Given the description of an element on the screen output the (x, y) to click on. 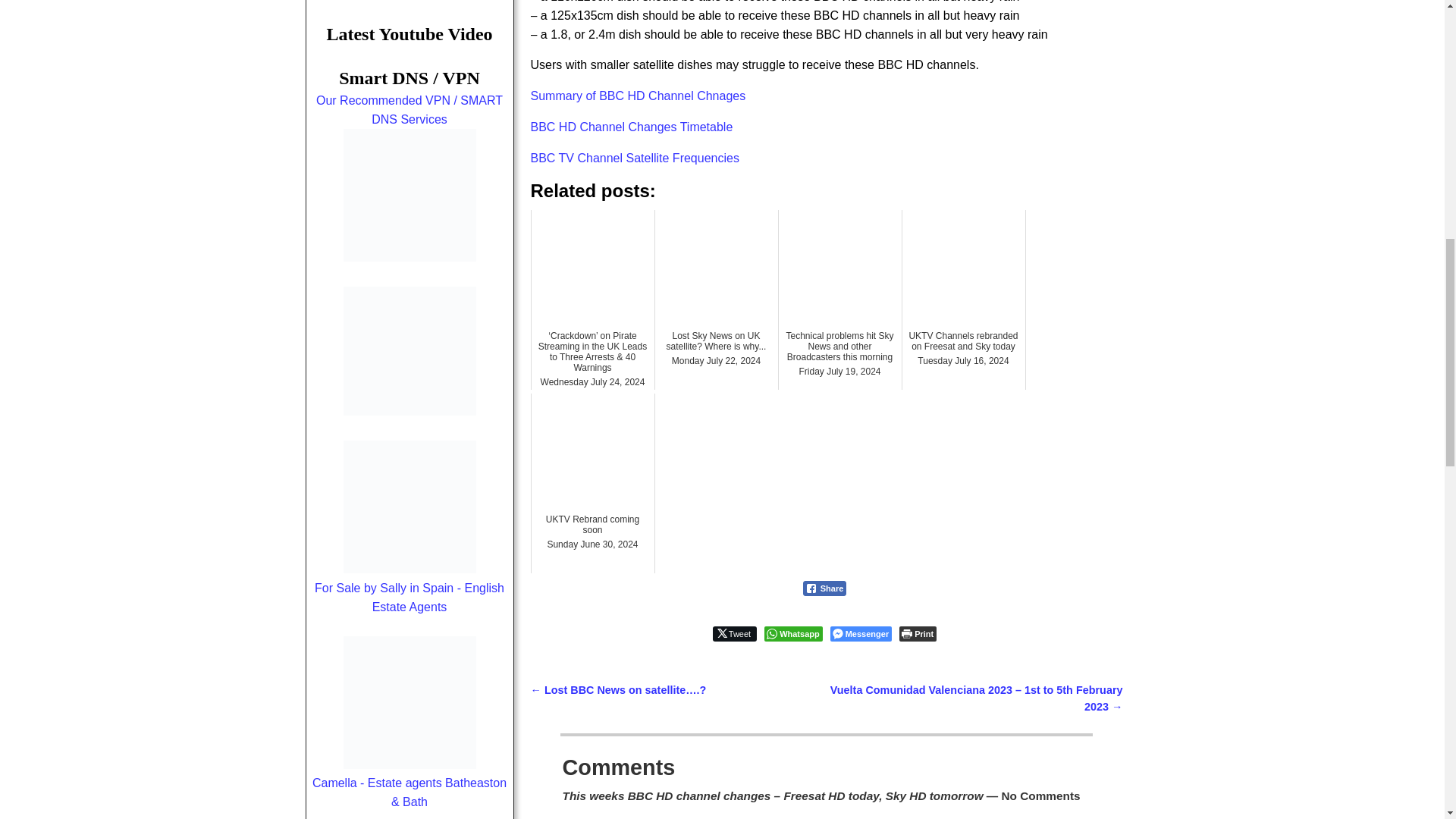
For Sale by Sally in Spain - English Estate Agents (409, 506)
Smart DNS Proxy Services (409, 256)
Best VPN for UK TV (409, 410)
BBC iPlayer in Spain (408, 110)
Smart DNS Proxy Services (409, 194)
